Given the description of an element on the screen output the (x, y) to click on. 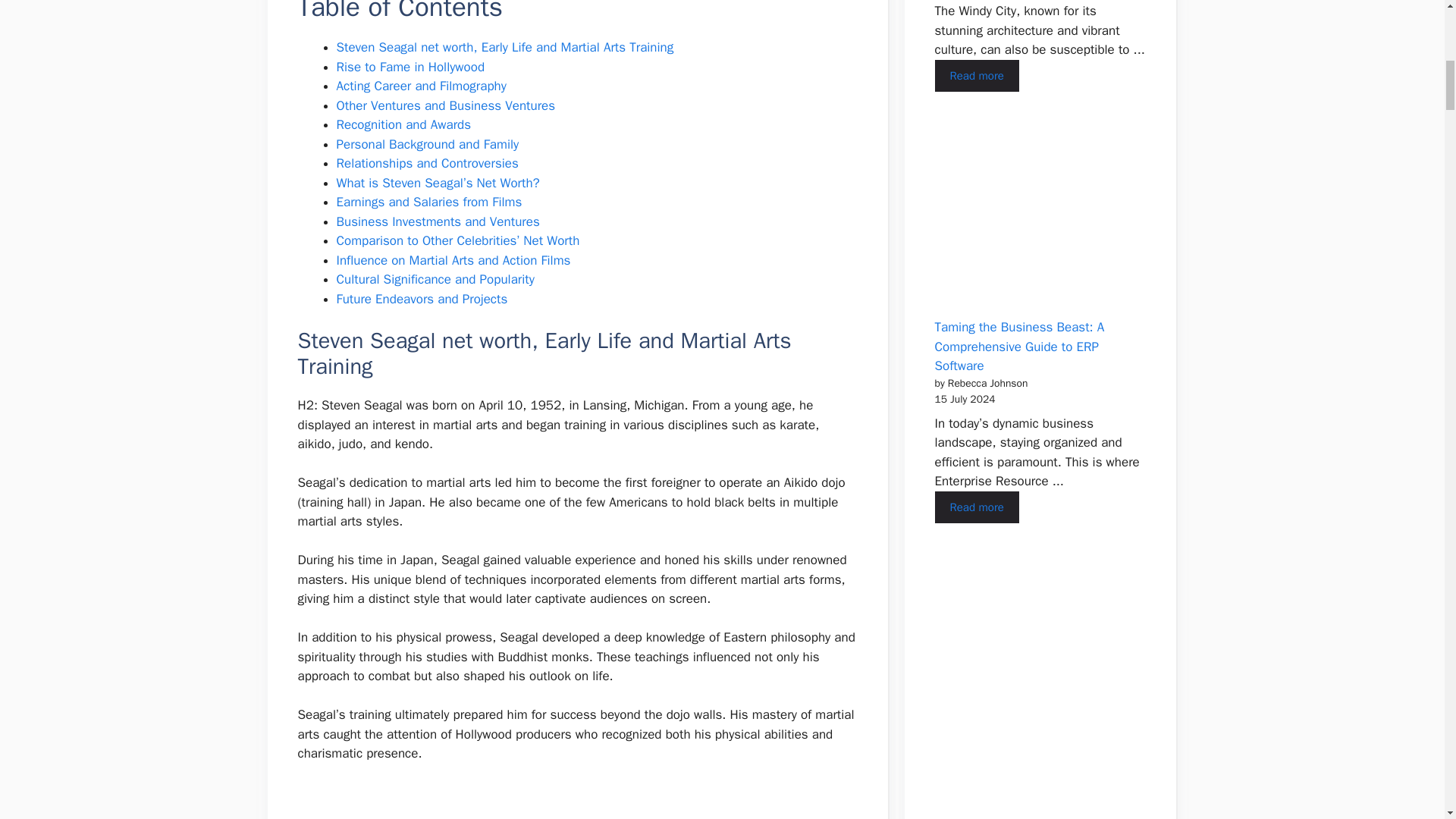
Influence on Martial Arts and Action Films (453, 260)
Business Investments and Ventures (438, 221)
Other Ventures and Business Ventures (446, 105)
Rise to Fame in Hollywood (410, 66)
Cultural Significance and Popularity (435, 279)
Future Endeavors and Projects (422, 299)
Personal Background and Family (427, 144)
Earnings and Salaries from Films (429, 201)
Relationships and Controversies (427, 163)
When Disaster Strikes: A Guide to Flood Restoration Chicago (975, 75)
Acting Career and Filmography (421, 85)
Recognition and Awards (403, 124)
